Given the description of an element on the screen output the (x, y) to click on. 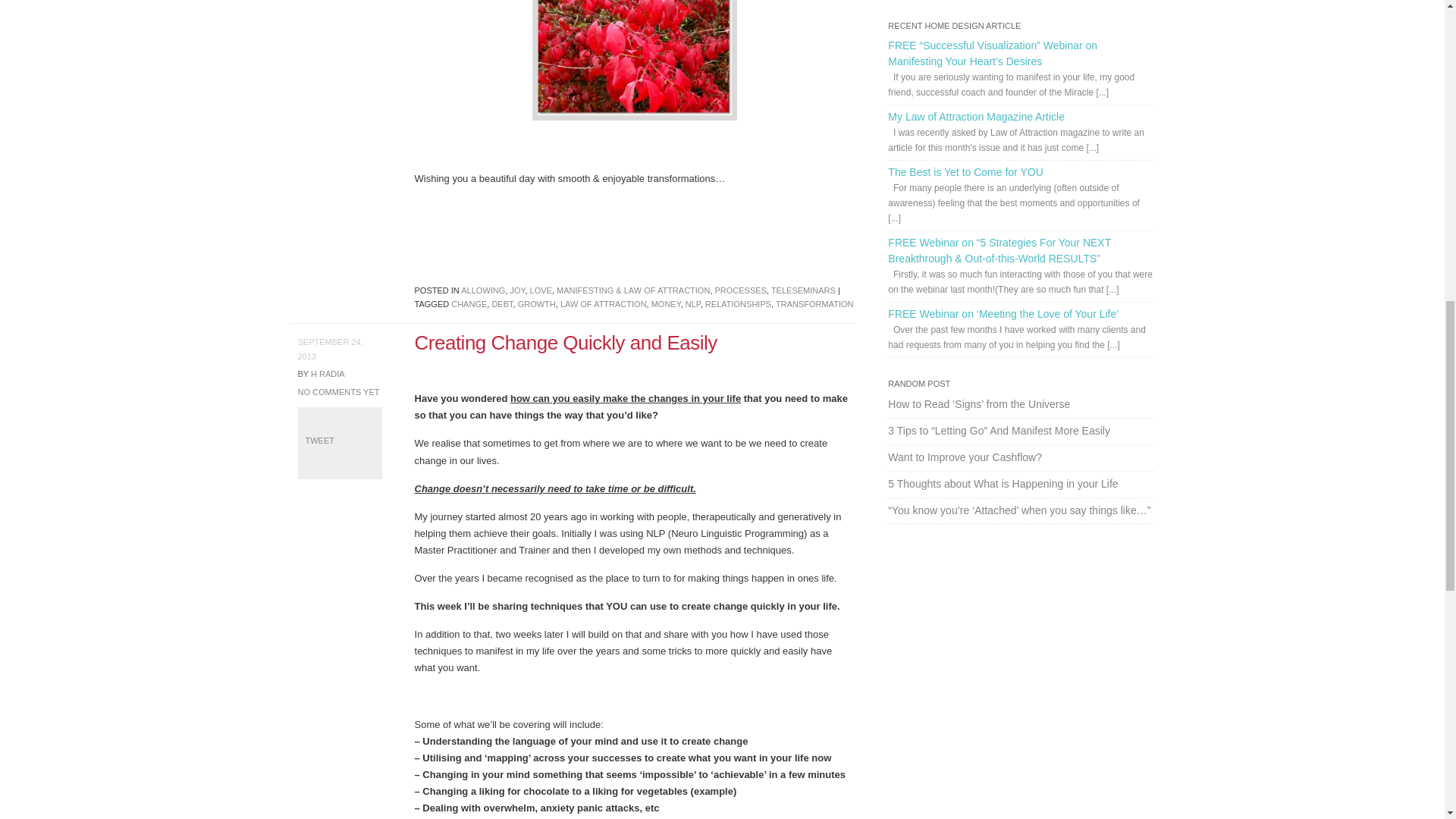
MONEY (665, 303)
DEBT (502, 303)
TRANSFORMATION (814, 303)
RELATIONSHIPS (737, 303)
SEPTEMBER 24, 2013 (329, 349)
JOY (516, 289)
LOVE (540, 289)
9:36 am (329, 349)
NLP (692, 303)
H RADIA (328, 373)
CHANGE (468, 303)
Creating Change Quickly and Easily (565, 342)
GROWTH (537, 303)
TELESEMINARS (803, 289)
ALLOWING (483, 289)
